Given the description of an element on the screen output the (x, y) to click on. 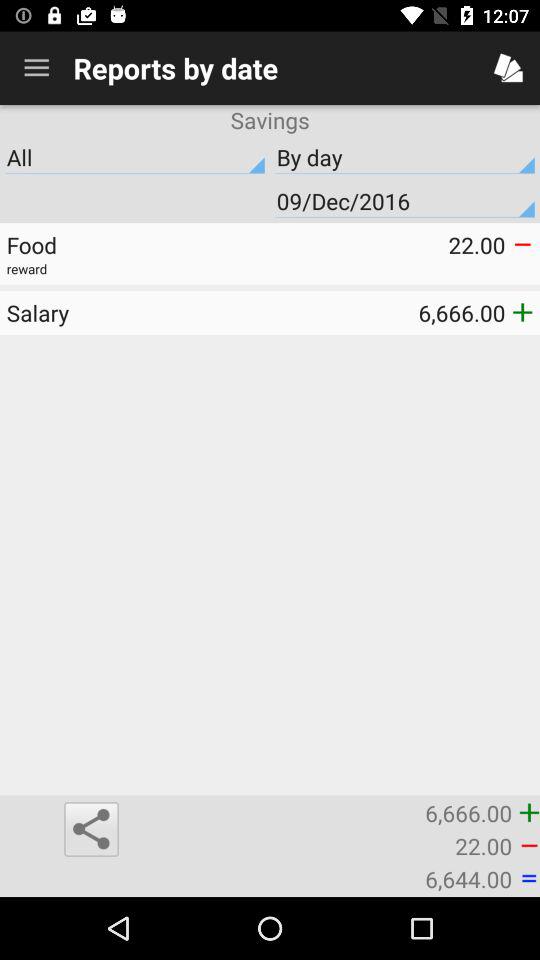
share the report (91, 829)
